Given the description of an element on the screen output the (x, y) to click on. 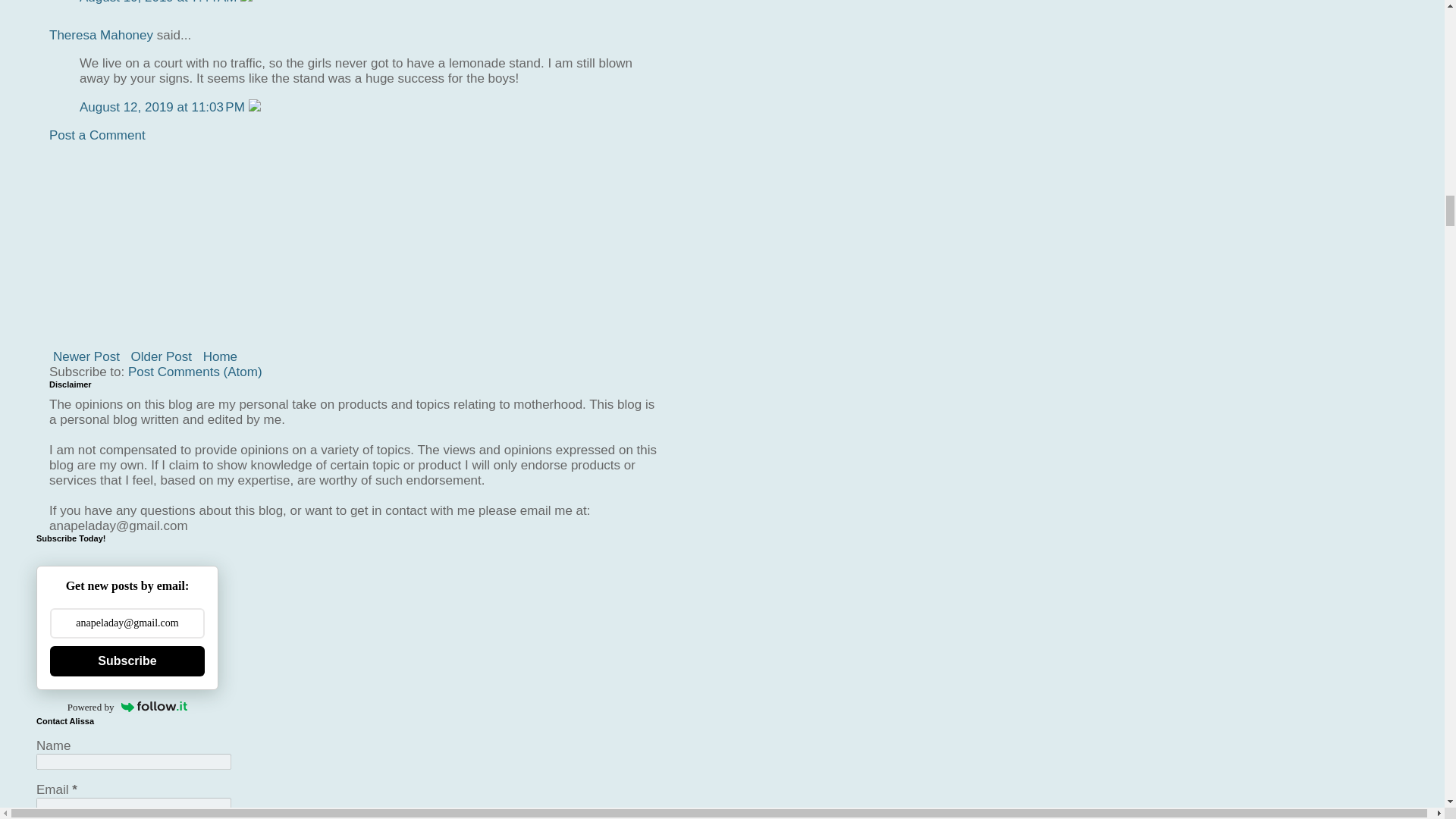
Delete Comment (245, 2)
Theresa Mahoney (100, 34)
comment permalink (160, 2)
comment permalink (164, 106)
Delete Comment (254, 106)
